Given the description of an element on the screen output the (x, y) to click on. 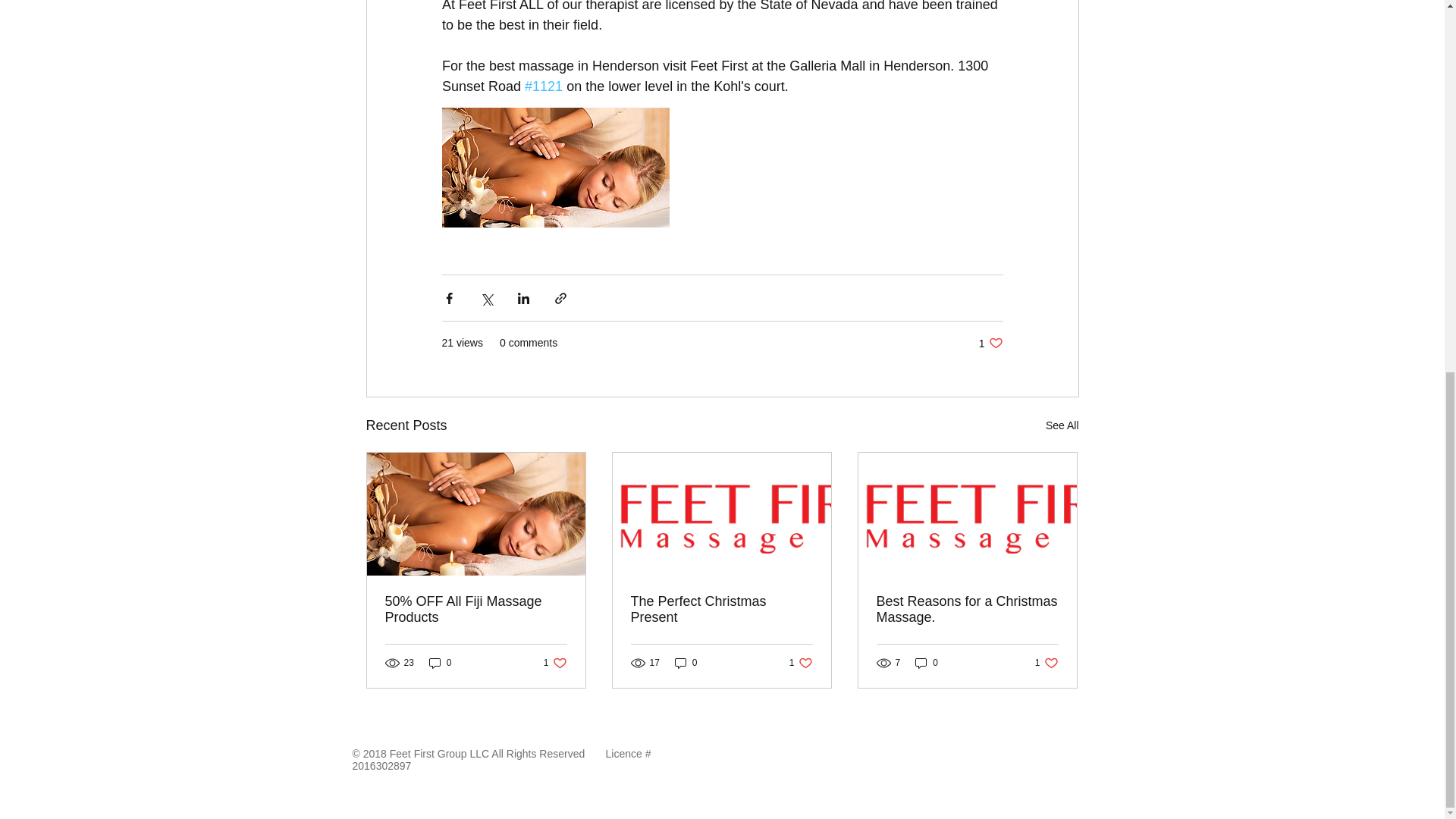
Best Reasons for a Christmas Massage. (967, 609)
0 (440, 663)
0 (1046, 663)
See All (685, 663)
0 (555, 663)
The Perfect Christmas Present (990, 342)
